Given the description of an element on the screen output the (x, y) to click on. 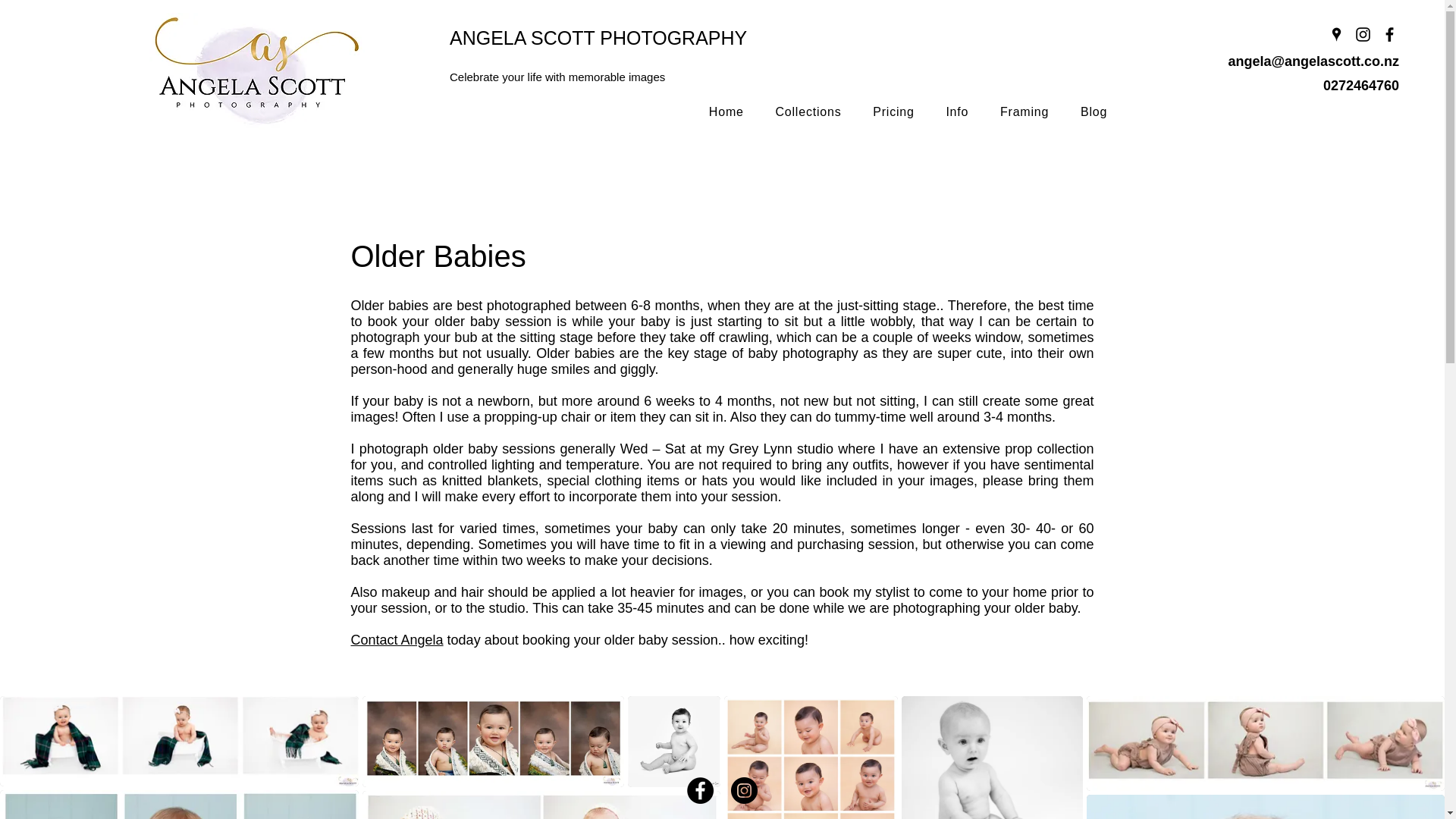
Home (726, 111)
Pricing (893, 111)
Framing (1024, 111)
ANGELA SCOTT PHOTOGRAPHY (597, 37)
Contact Angela (396, 639)
Blog (1093, 111)
